Given the description of an element on the screen output the (x, y) to click on. 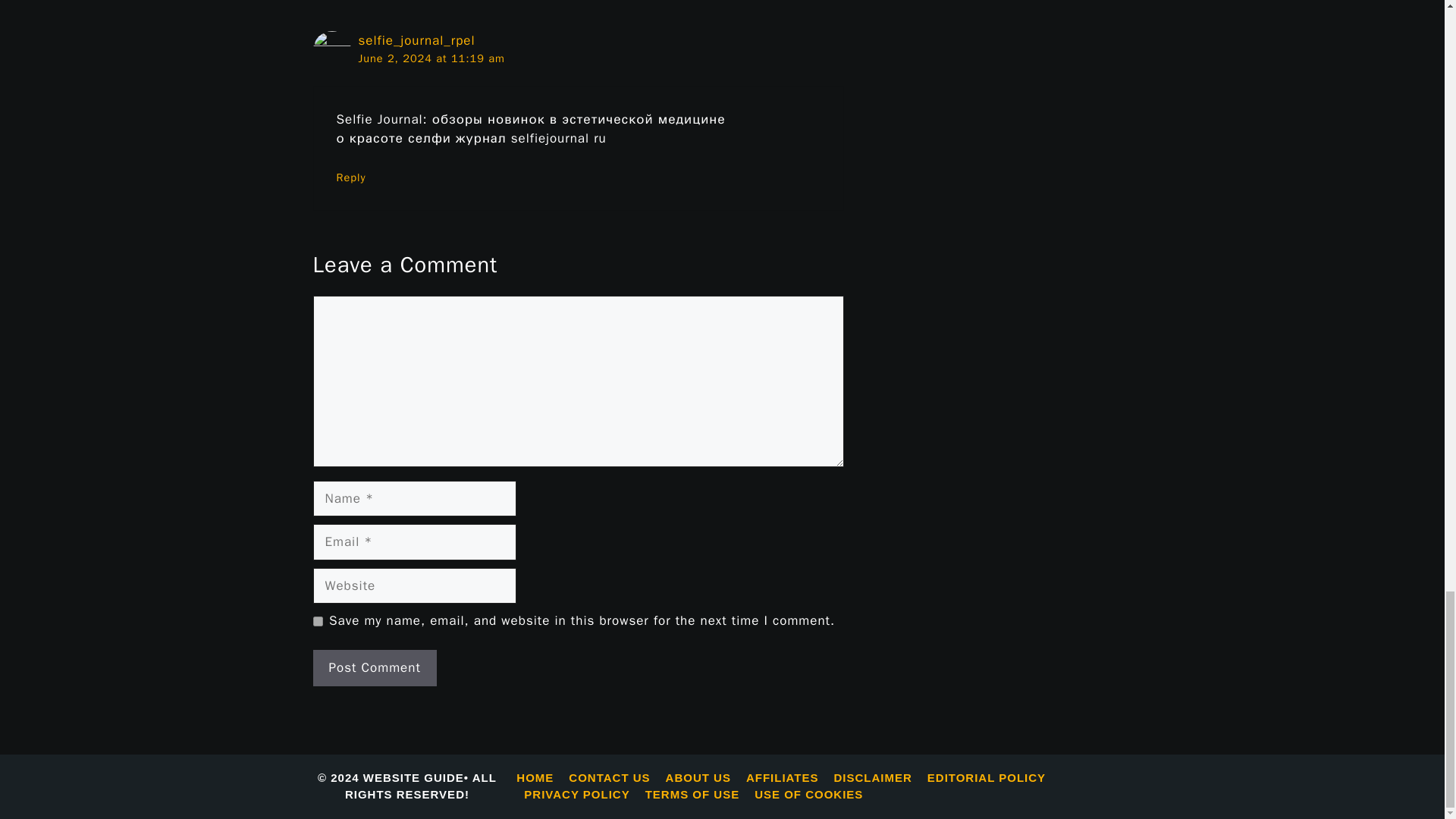
Reply (351, 177)
yes (317, 621)
June 2, 2024 at 11:19 am (430, 58)
Post Comment (374, 668)
Post Comment (374, 668)
